Given the description of an element on the screen output the (x, y) to click on. 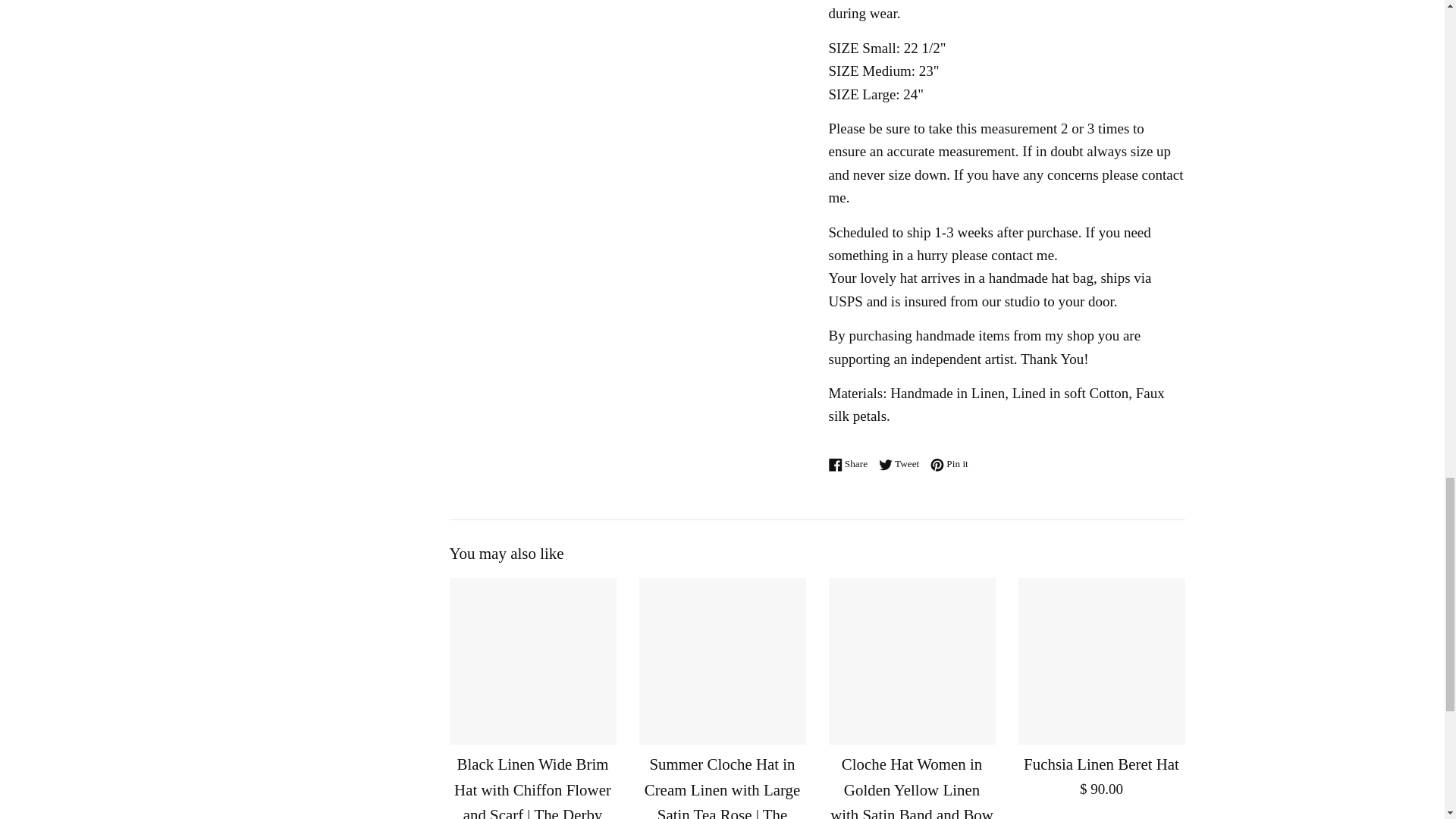
Fuchsia Linen Beret Hat (1101, 661)
Tweet on Twitter (902, 463)
Pin on Pinterest (949, 463)
Share on Facebook (851, 463)
